Given the description of an element on the screen output the (x, y) to click on. 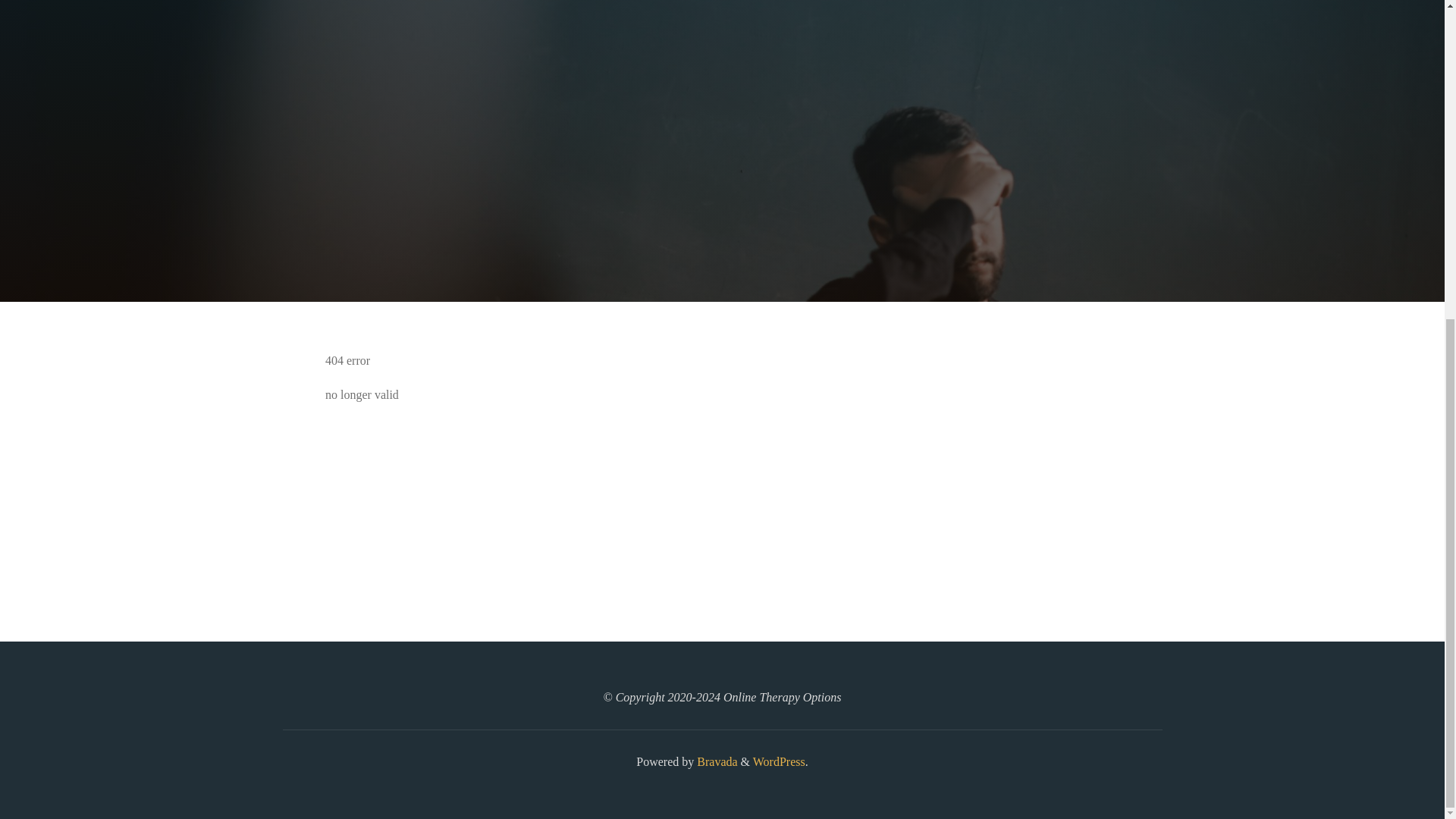
Semantic Personal Publishing Platform (778, 761)
Bravada (715, 761)
WordPress (778, 761)
Bravada WordPress Theme by Cryout Creations (715, 761)
Read more (721, 207)
